Given the description of an element on the screen output the (x, y) to click on. 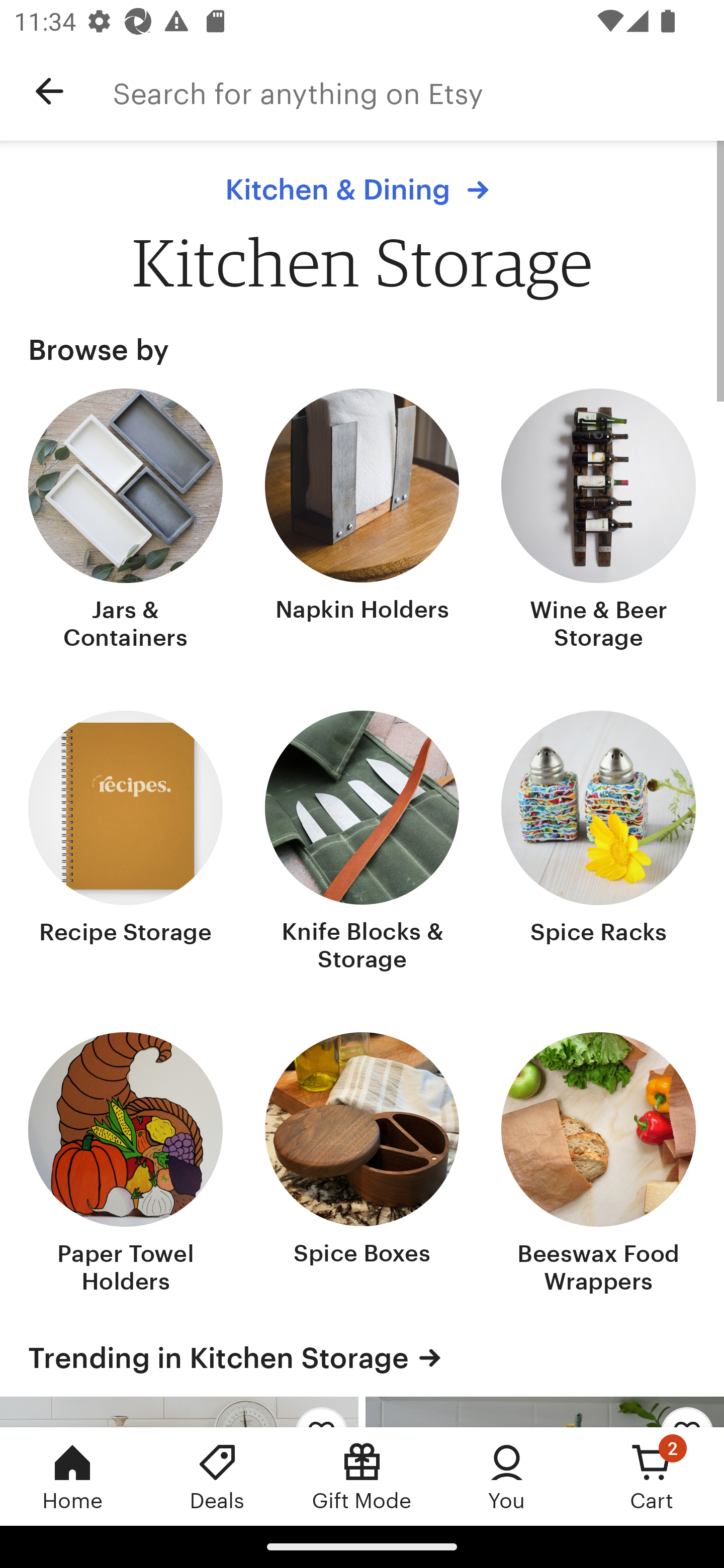
Navigate up (49, 91)
Search for anything on Etsy (418, 91)
Kitchen & Dining (361, 189)
Jars & Containers (125, 520)
Napkin Holders (361, 520)
Wine & Beer Storage (598, 520)
Recipe Storage (125, 842)
Knife Blocks & Storage (361, 842)
Spice Racks (598, 842)
Paper Towel Holders (125, 1164)
Spice Boxes (361, 1164)
Beeswax Food Wrappers (598, 1164)
Trending in Kitchen Storage  (361, 1357)
Deals (216, 1475)
Gift Mode (361, 1475)
You (506, 1475)
Cart, 2 new notifications Cart (651, 1475)
